Given the description of an element on the screen output the (x, y) to click on. 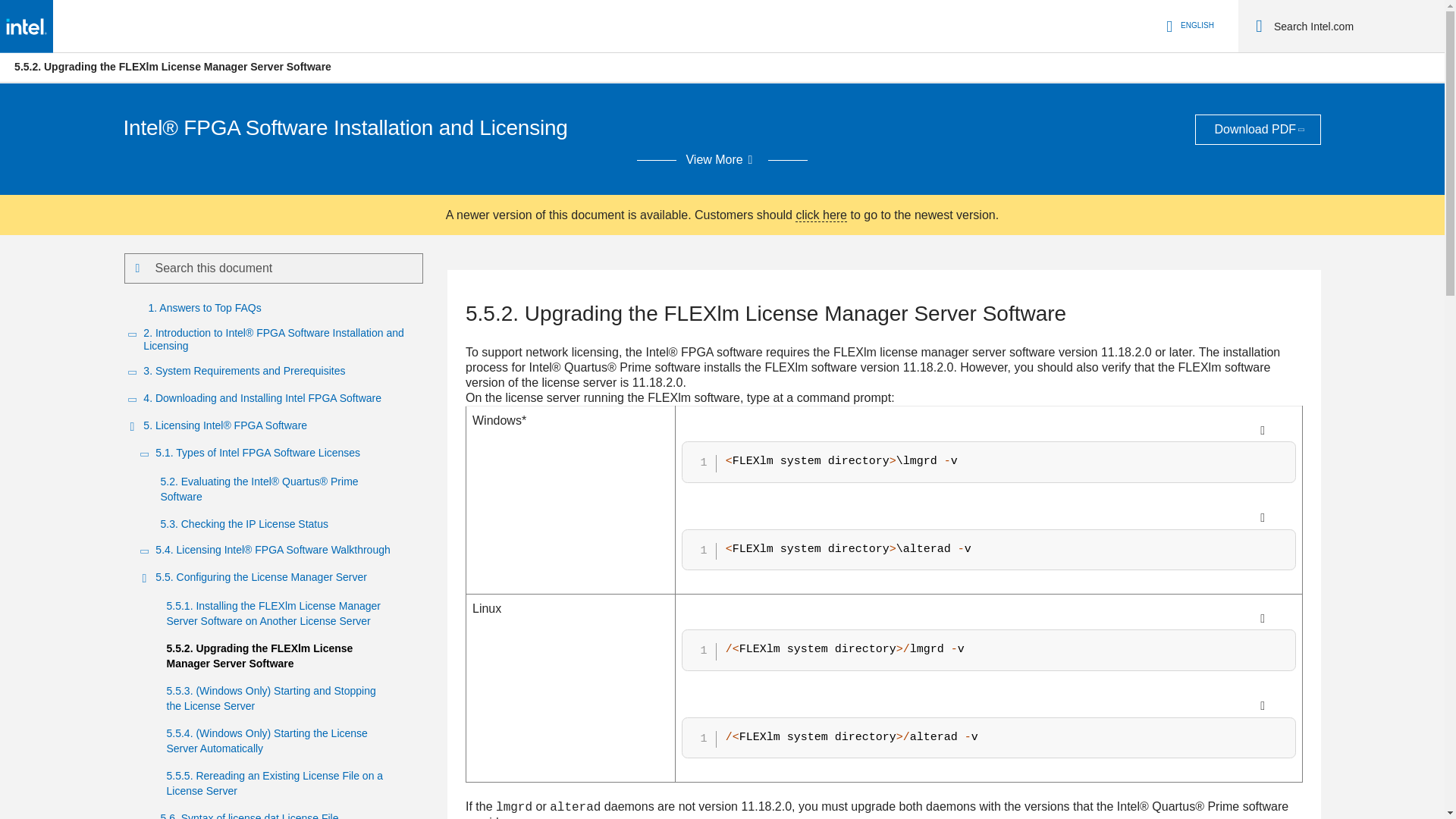
Search (1259, 26)
Language Selector (1187, 26)
ENGLISH (1187, 26)
